Given the description of an element on the screen output the (x, y) to click on. 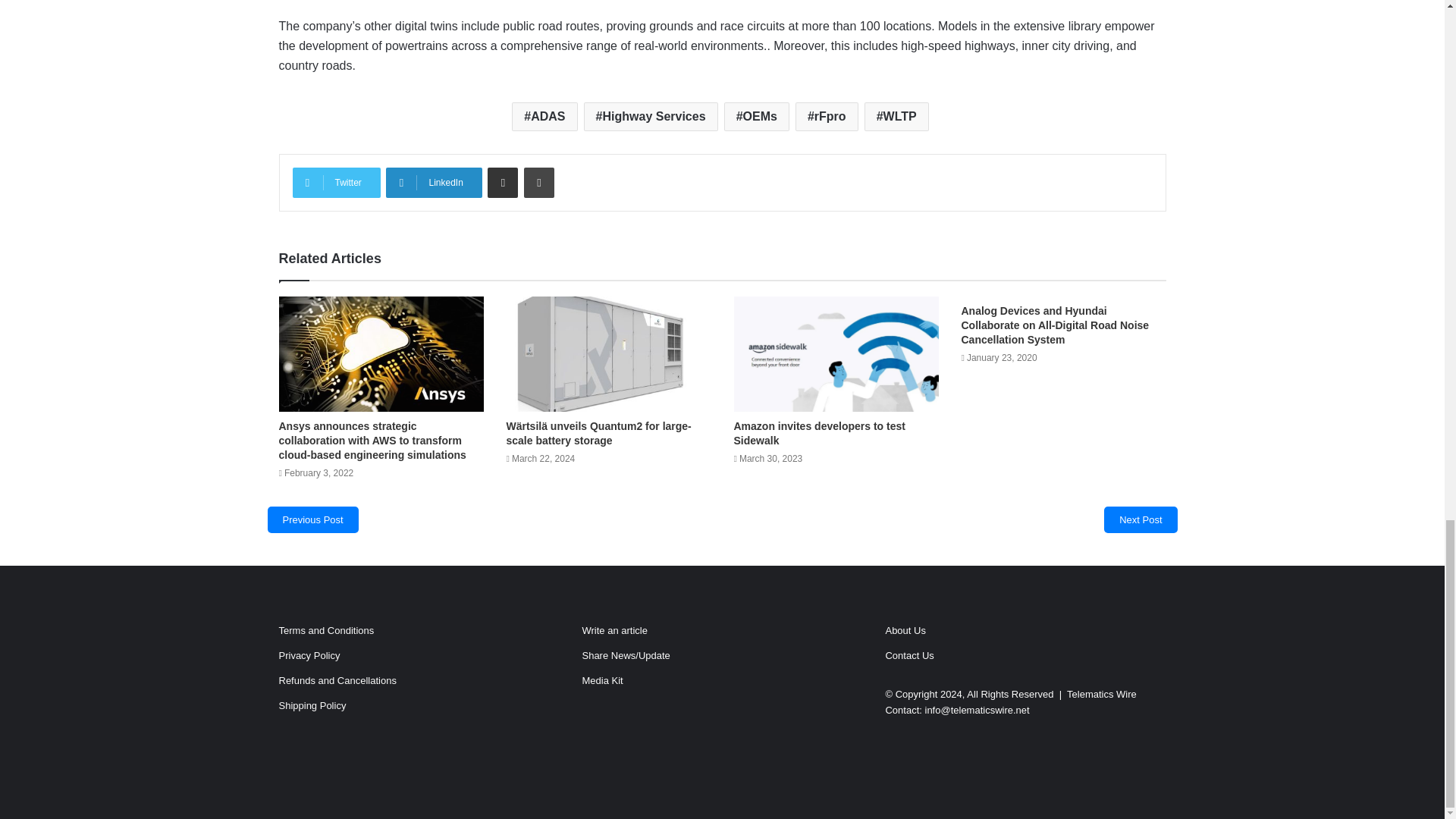
Twitter (336, 182)
LinkedIn (433, 182)
Print (539, 182)
Share via Email (502, 182)
